Given the description of an element on the screen output the (x, y) to click on. 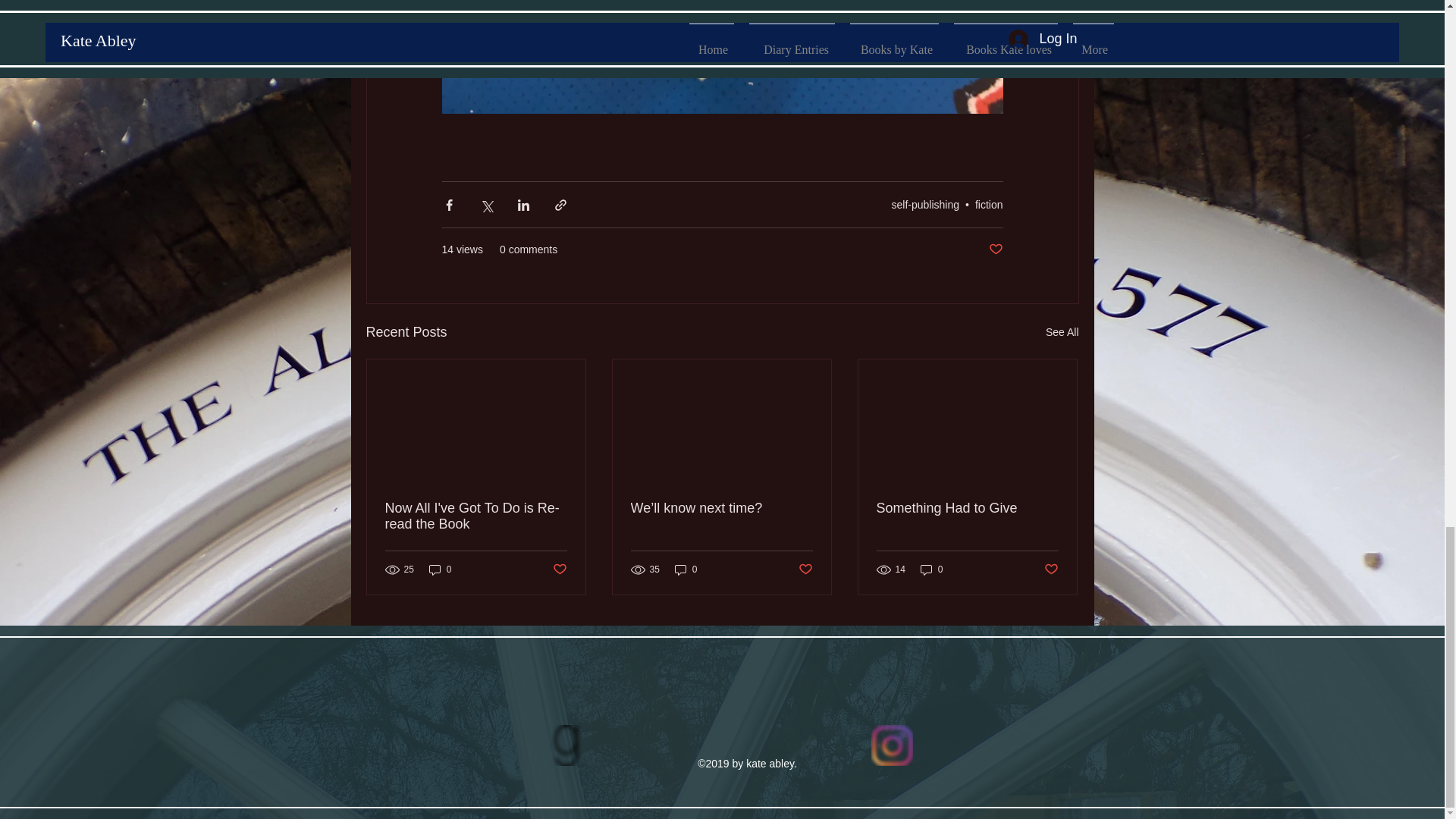
0 (931, 569)
Facebook Like (458, 732)
self-publishing (925, 204)
Something Had to Give (967, 508)
Twitter Follow (1006, 732)
See All (1061, 332)
Post not marked as liked (1050, 569)
fiction (989, 204)
Now All I've Got To Do is Re-read the Book (476, 516)
0 (685, 569)
Post not marked as liked (558, 569)
Post not marked as liked (804, 569)
0 (440, 569)
Post not marked as liked (995, 249)
